Given the description of an element on the screen output the (x, y) to click on. 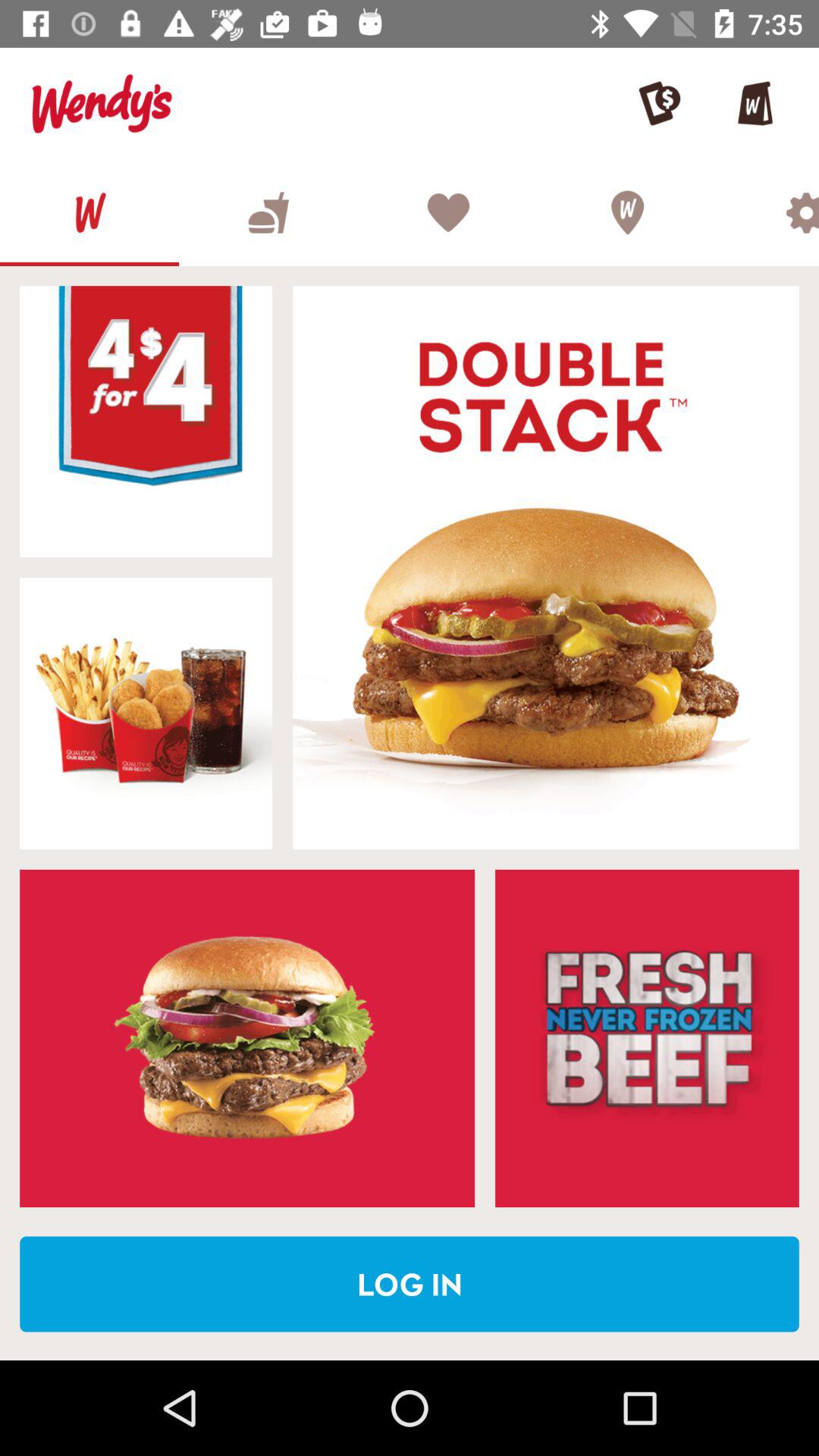
menu (268, 212)
